Given the description of an element on the screen output the (x, y) to click on. 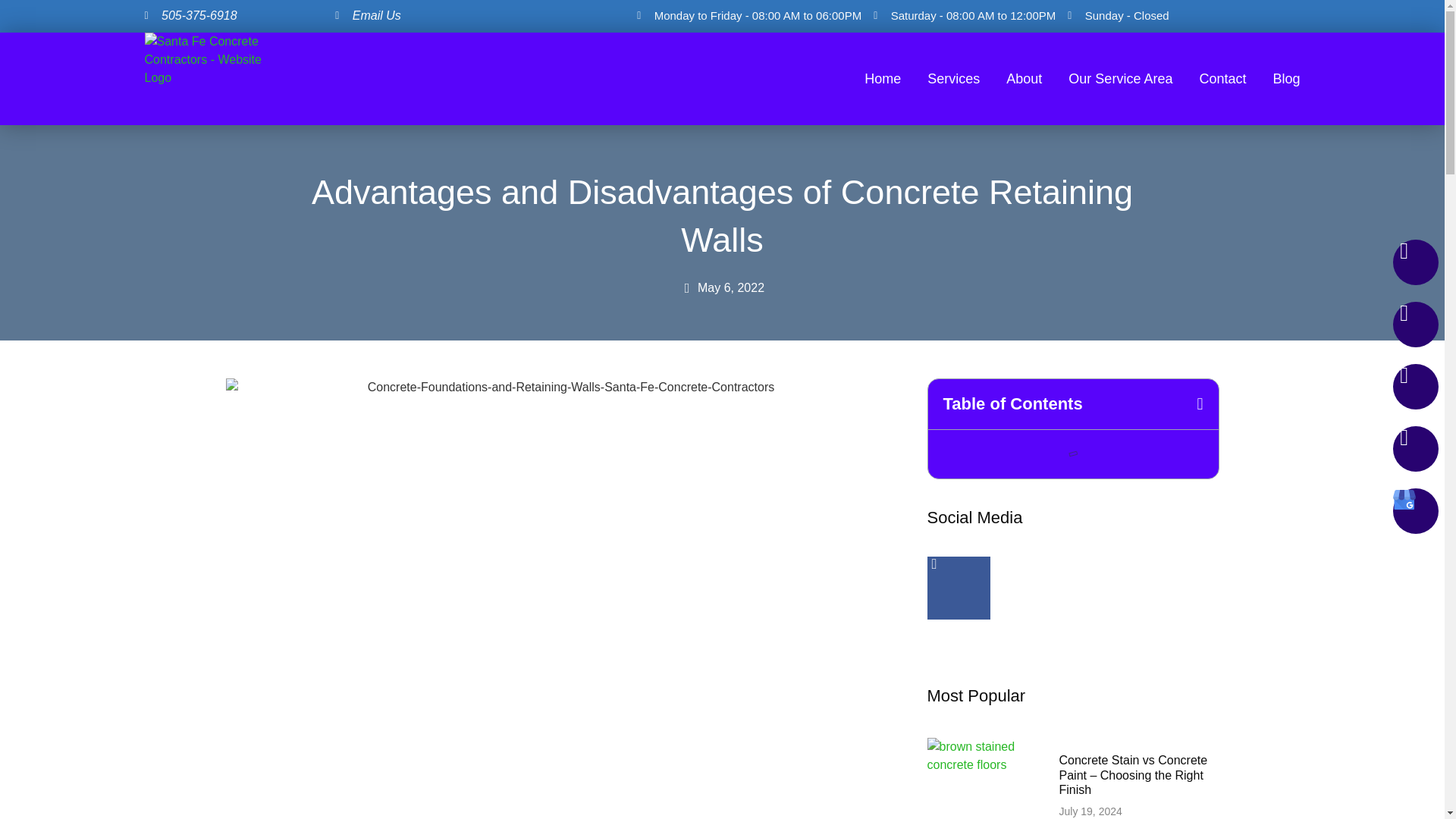
About (1024, 77)
Home (882, 77)
Services (953, 77)
Our Service Area (1120, 77)
Email Us (477, 15)
Contact (1222, 77)
505-375-6918 (235, 15)
